Given the description of an element on the screen output the (x, y) to click on. 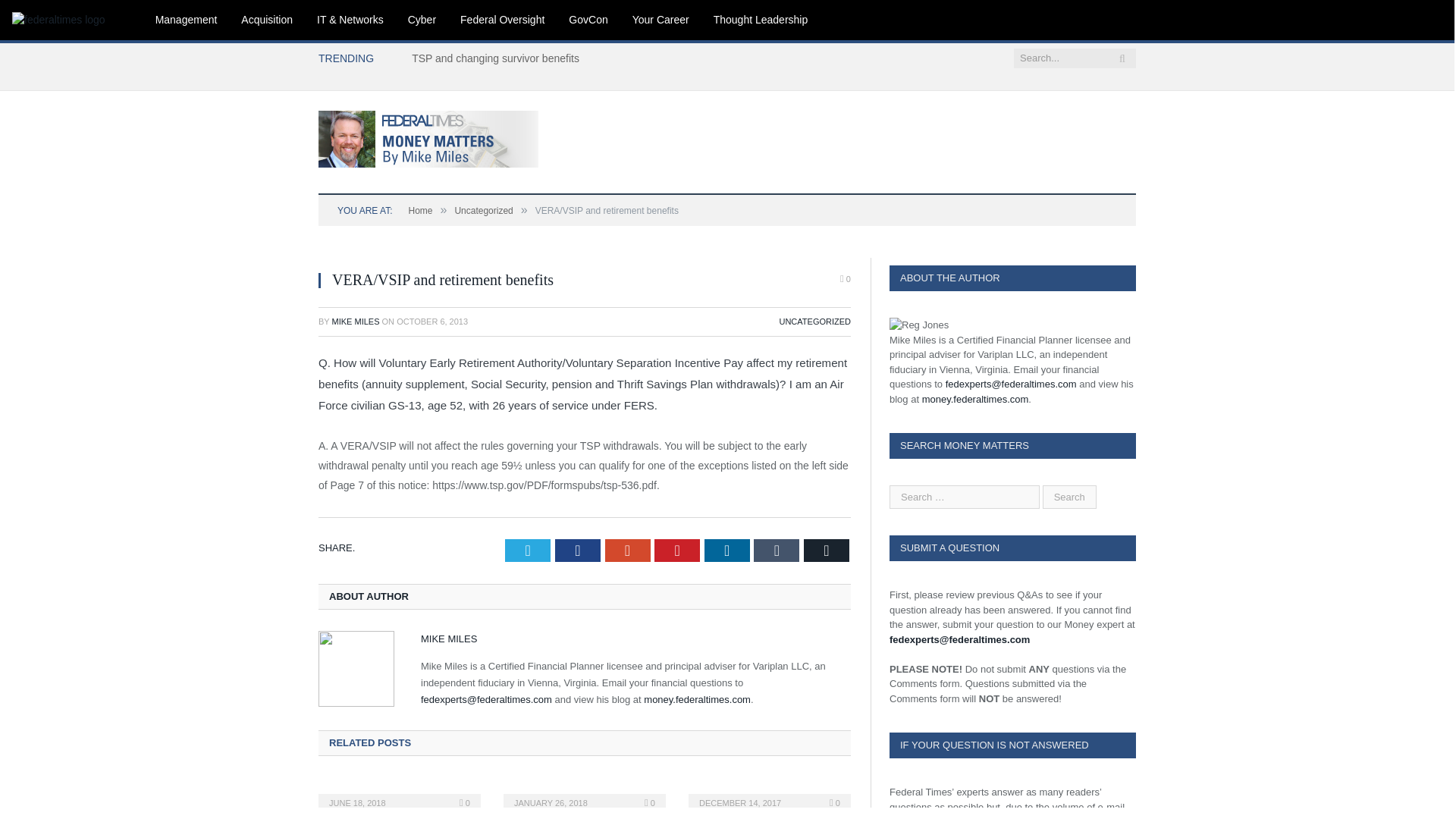
TSP and changing survivor benefits (499, 58)
Federal Oversight (502, 19)
Search (1069, 496)
Tumblr (776, 549)
UNCATEGORIZED (814, 320)
Email (825, 549)
Acquisition (266, 19)
Share on Facebook (576, 549)
Home (419, 210)
Twitter (527, 549)
